Given the description of an element on the screen output the (x, y) to click on. 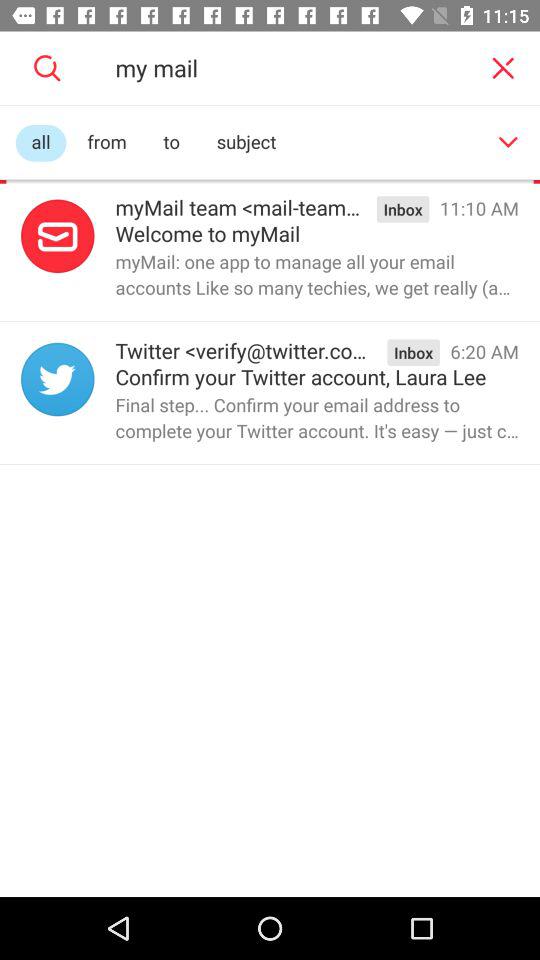
open message (57, 379)
